Given the description of an element on the screen output the (x, y) to click on. 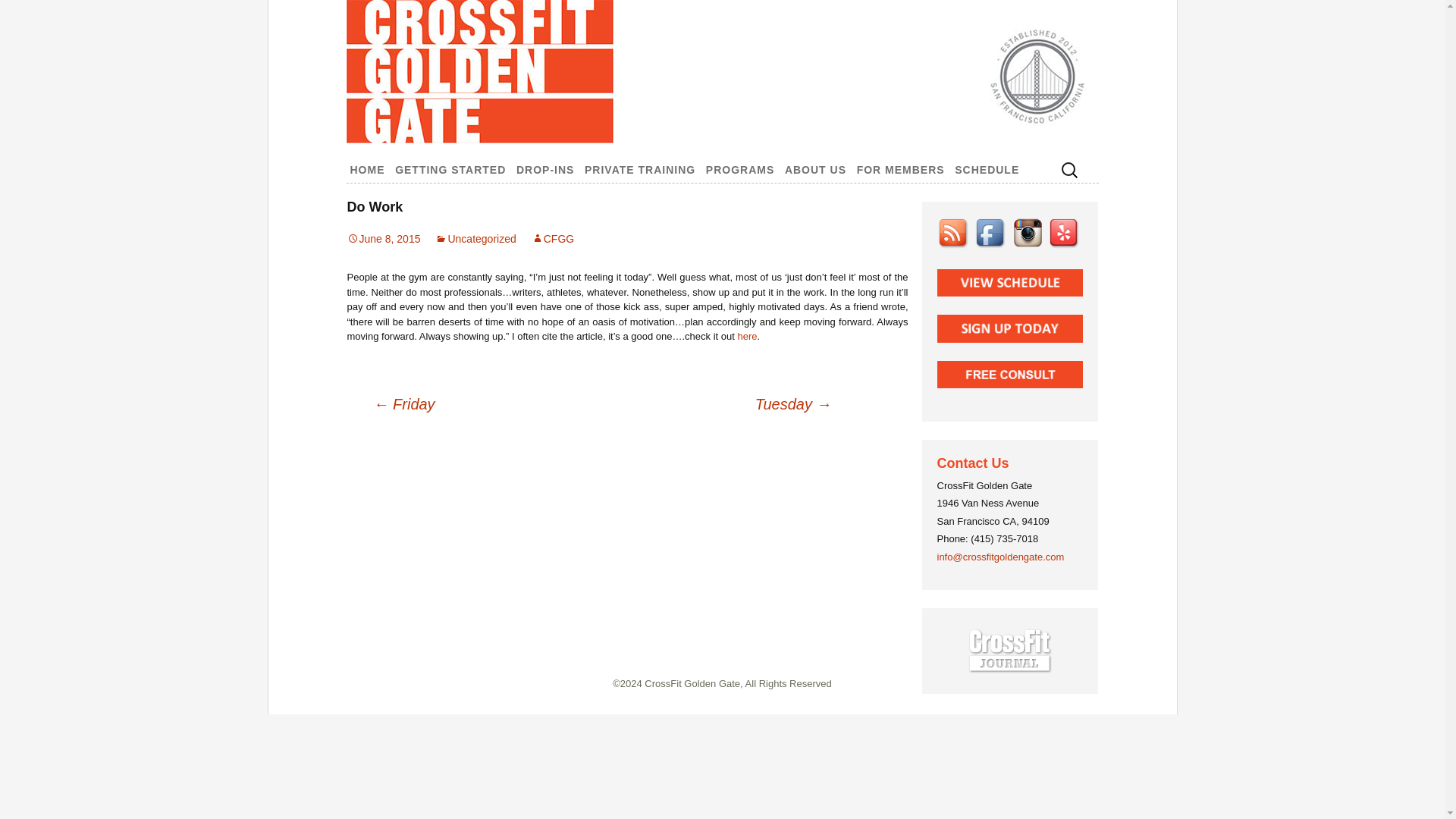
DROP-INS (545, 169)
WORKOUT OF THE DAY (927, 196)
HOME (367, 169)
here (746, 336)
PROGRAMS (739, 169)
LOCATION (855, 196)
ABOUT US (815, 169)
June 8, 2015 (383, 238)
View all posts by CFGG (552, 238)
CFGG (552, 238)
Permalink to Do Work (383, 238)
FOR MEMBERS (901, 169)
GROUP CROSSFIT CLASSES (777, 201)
Search (18, 14)
